Given the description of an element on the screen output the (x, y) to click on. 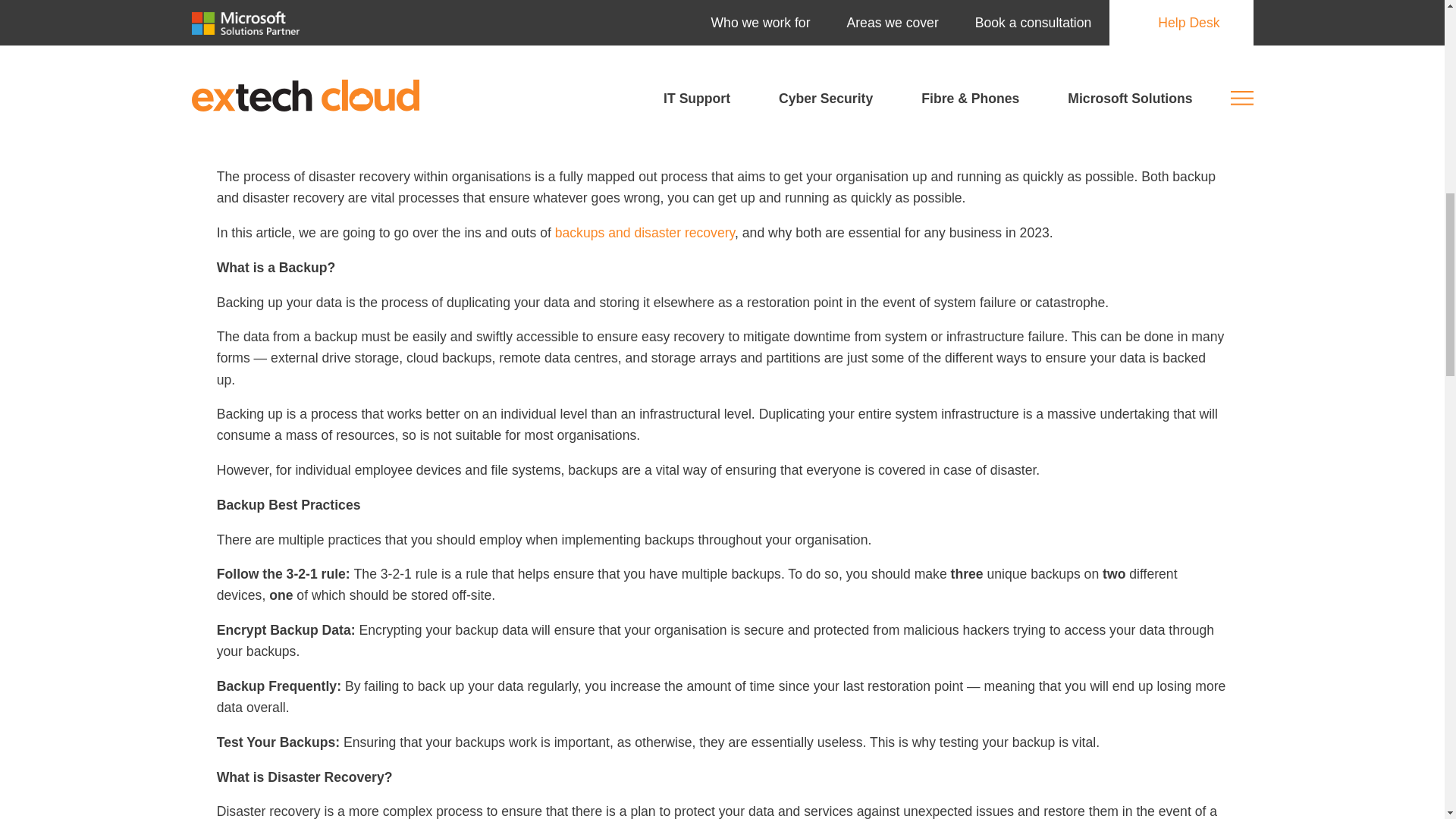
Contact (1230, 52)
Our Team (869, 52)
Partners (971, 52)
Our Story (761, 52)
